Given the description of an element on the screen output the (x, y) to click on. 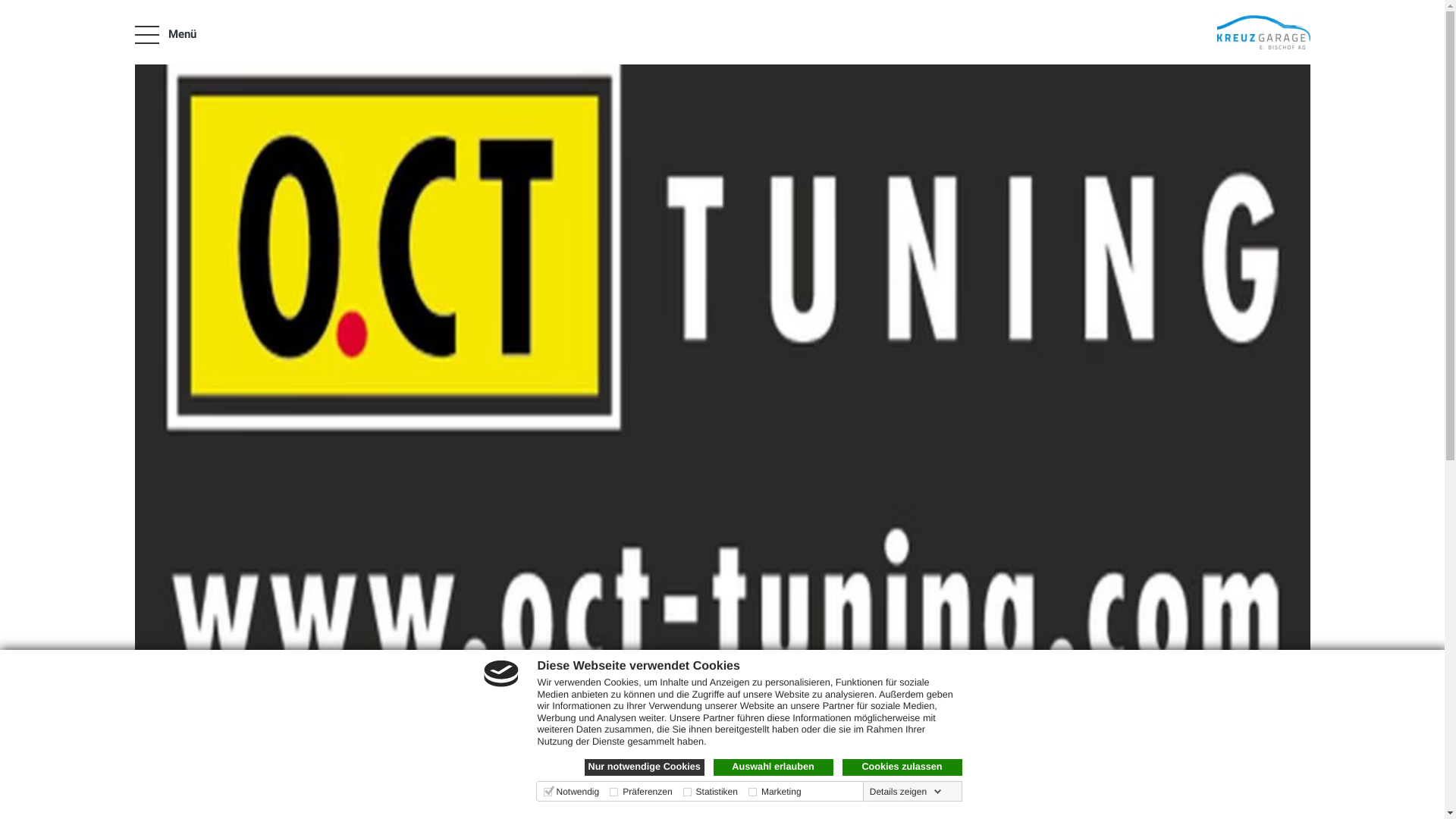
Nur notwendige Cookies Element type: text (643, 767)
Cookies zulassen Element type: text (901, 767)
Details zeigen Element type: text (905, 791)
Auswahl erlauben Element type: text (772, 767)
